Given the description of an element on the screen output the (x, y) to click on. 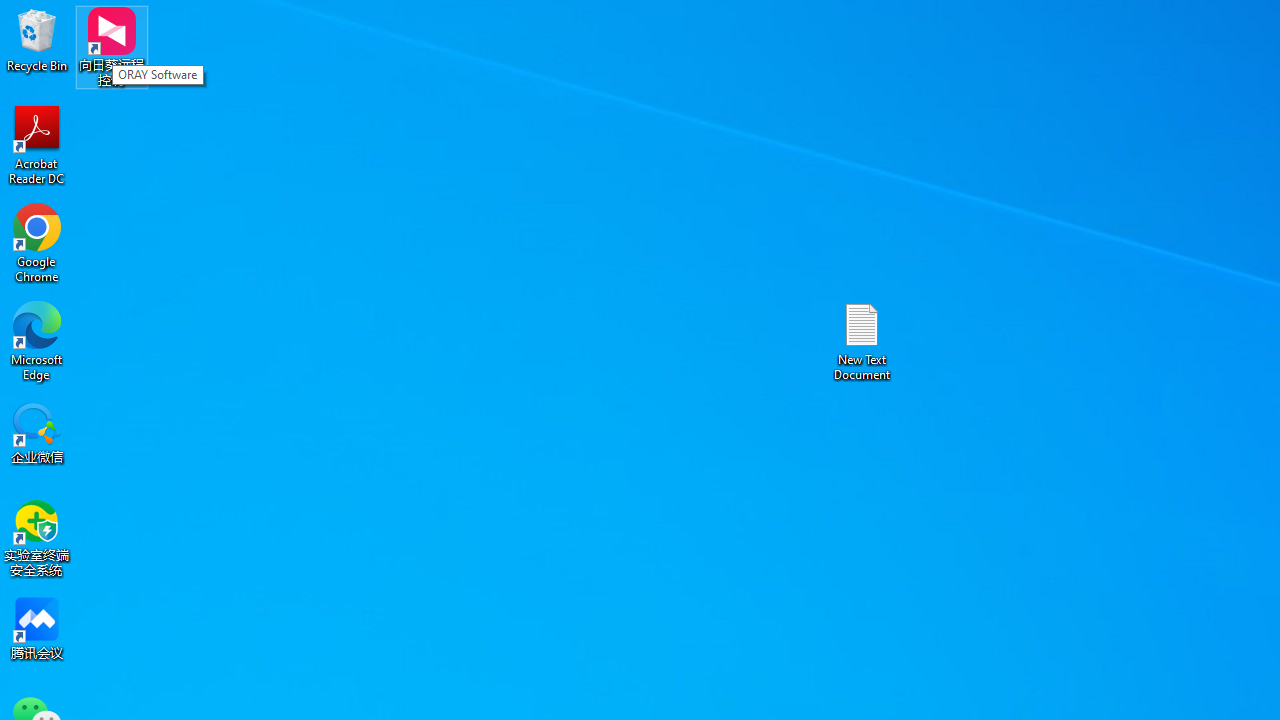
Acrobat Reader DC (37, 144)
Google Chrome (37, 242)
Microsoft Edge (37, 340)
Recycle Bin (37, 39)
New Text Document (861, 340)
